Given the description of an element on the screen output the (x, y) to click on. 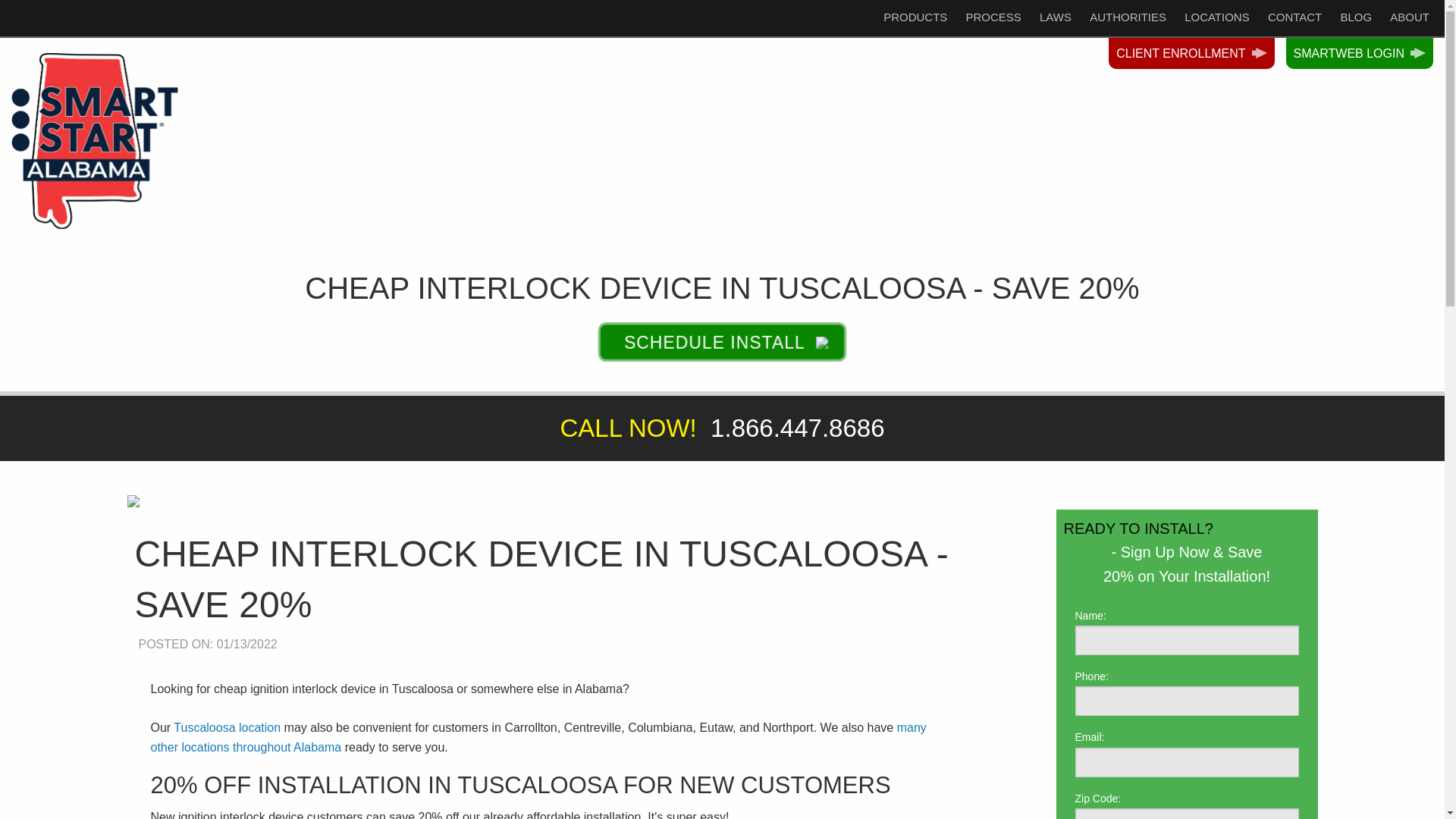
LOCATIONS (1216, 5)
AUTHORITIES (1127, 4)
SCHEDULE INSTALL   (715, 341)
CLIENT ENROLLMENT (1191, 53)
BLOG (1355, 10)
CALL NOW!  1.866.447.8686 (722, 428)
many other locations throughout Alabama (537, 737)
LAWS (1055, 1)
ABOUT (1409, 11)
CONTACT (1294, 7)
